Given the description of an element on the screen output the (x, y) to click on. 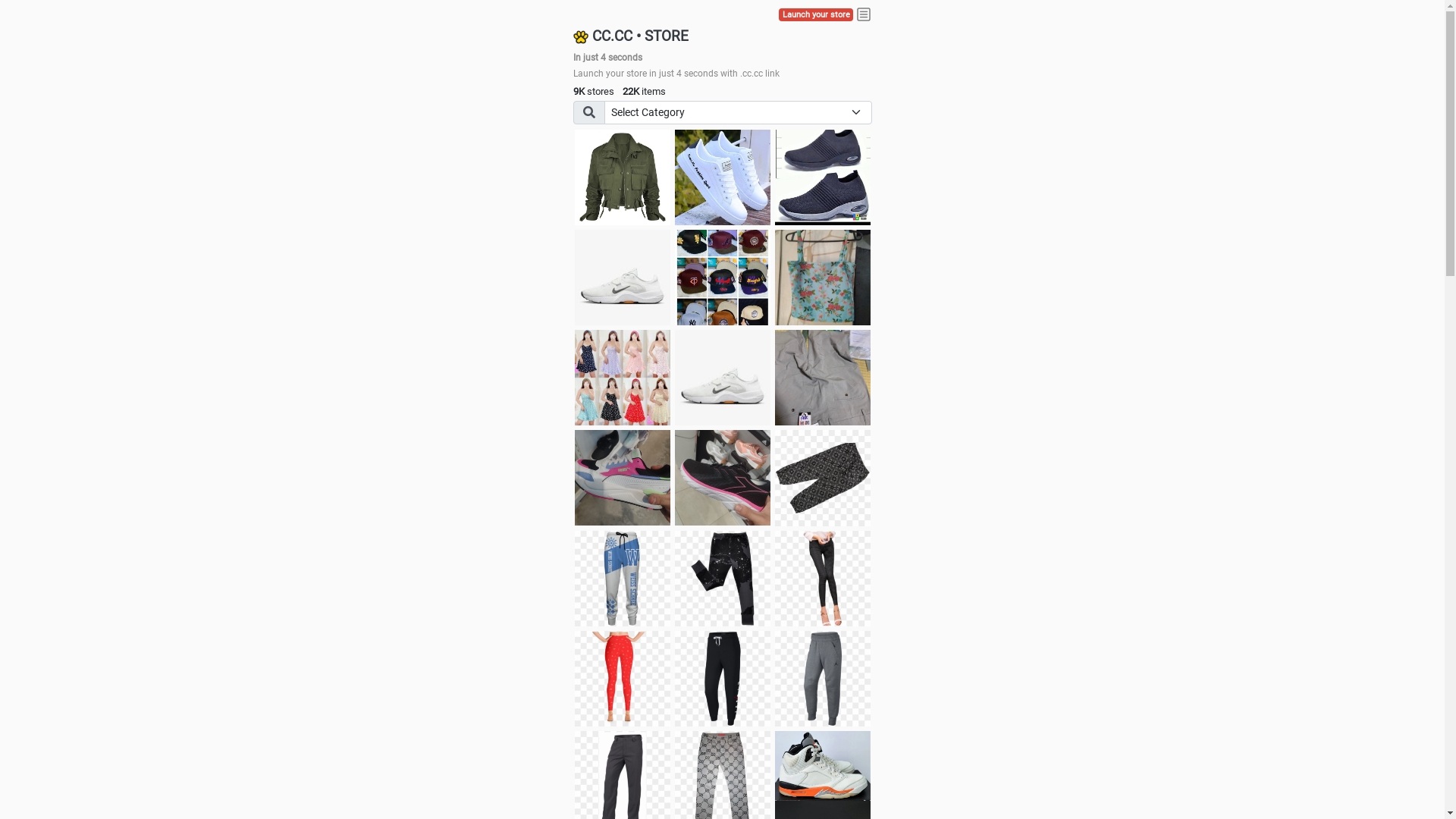
Pant Element type: hover (722, 578)
Pant Element type: hover (822, 678)
Pant Element type: hover (622, 578)
jacket Element type: hover (622, 177)
Pant Element type: hover (722, 678)
Things we need Element type: hover (722, 277)
Zapatillas Element type: hover (722, 477)
Short pant Element type: hover (822, 477)
Dress/square nect top Element type: hover (622, 377)
Zapatillas pumas Element type: hover (622, 477)
white shoes Element type: hover (722, 177)
Ukay cloth Element type: hover (822, 277)
shoes for boys Element type: hover (822, 177)
Shoes Element type: hover (722, 377)
Shoes for boys Element type: hover (622, 277)
Launch your store Element type: text (815, 14)
Pant Element type: hover (622, 678)
Pant Element type: hover (822, 578)
